Given the description of an element on the screen output the (x, y) to click on. 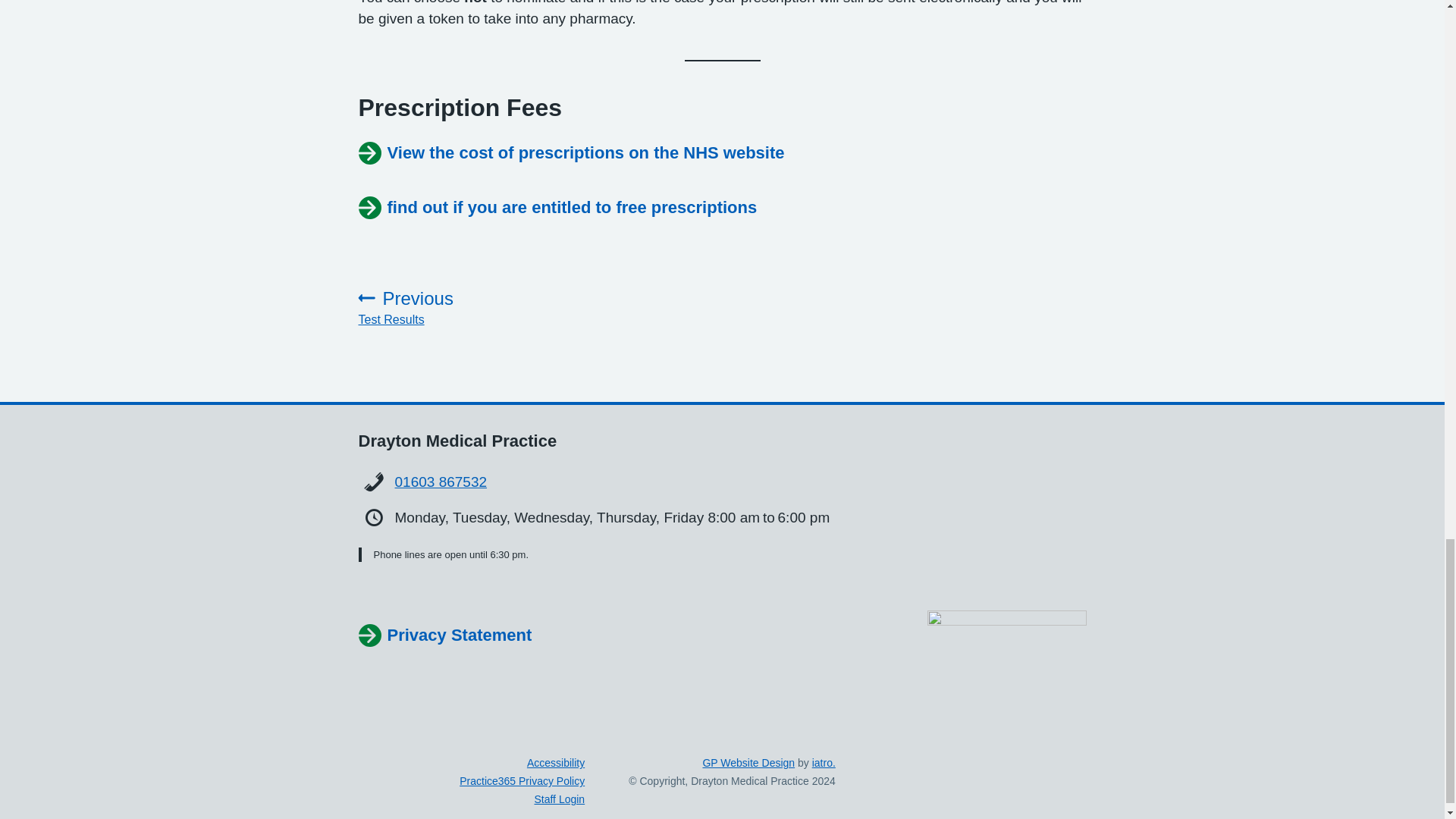
Staff Login (559, 799)
View the cost of prescriptions on the NHS website (571, 152)
Accessibility (467, 307)
Privacy Statement (556, 762)
GP Website Design (444, 635)
01603 867532 (747, 762)
iatro. (440, 481)
Practice365 Privacy Policy (823, 762)
find out if you are entitled to free prescriptions (522, 780)
